Given the description of an element on the screen output the (x, y) to click on. 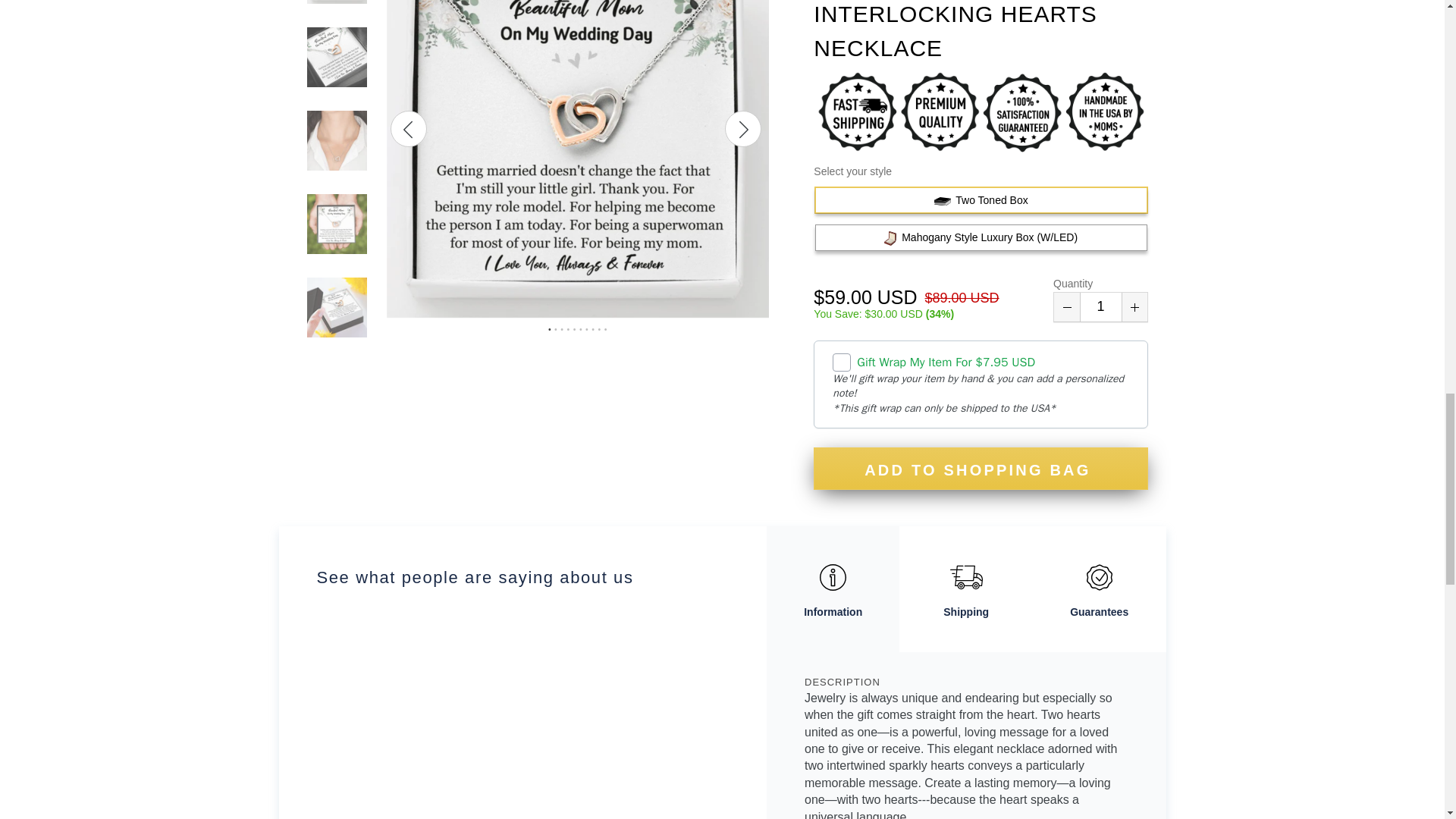
1 (1100, 306)
JPY (1323, 19)
on (841, 361)
EUR (1323, 2)
